Given the description of an element on the screen output the (x, y) to click on. 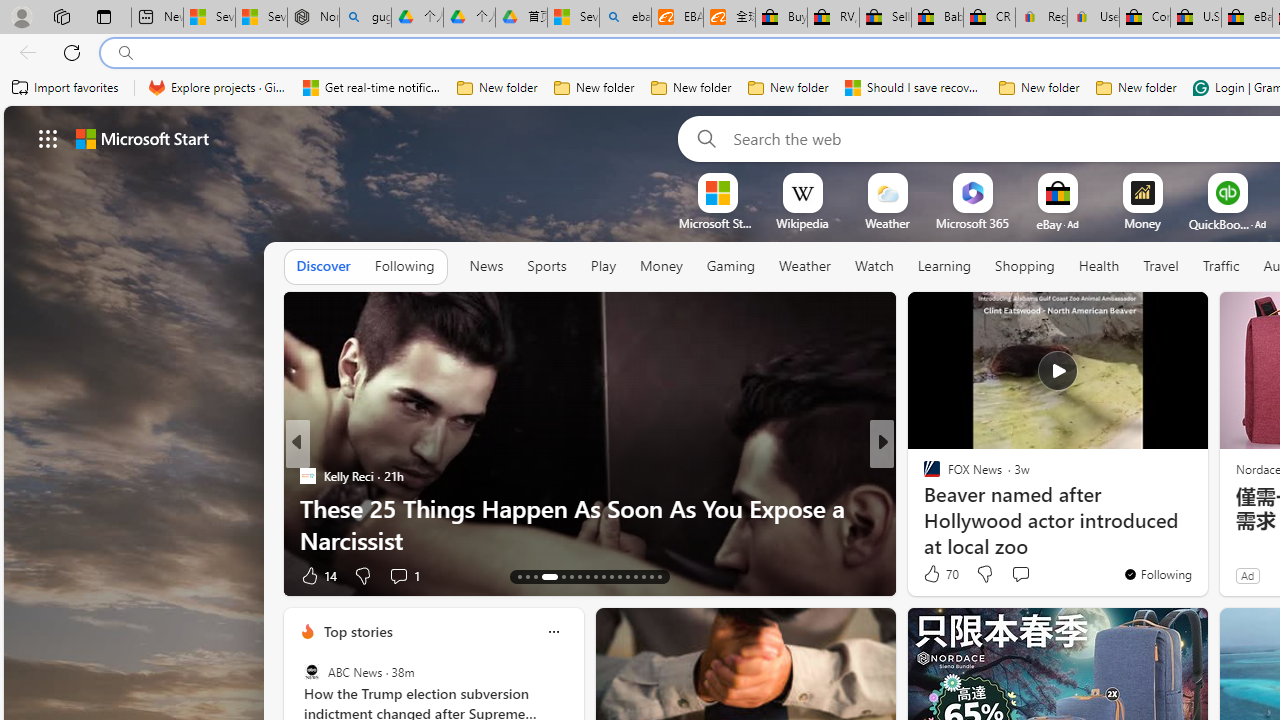
AutomationID: tab-33 (642, 576)
AutomationID: tab-16 (549, 576)
User Privacy Notice | eBay (1092, 17)
App launcher (47, 138)
View comments 167 Comment (1025, 574)
29 Like (934, 574)
